Given the description of an element on the screen output the (x, y) to click on. 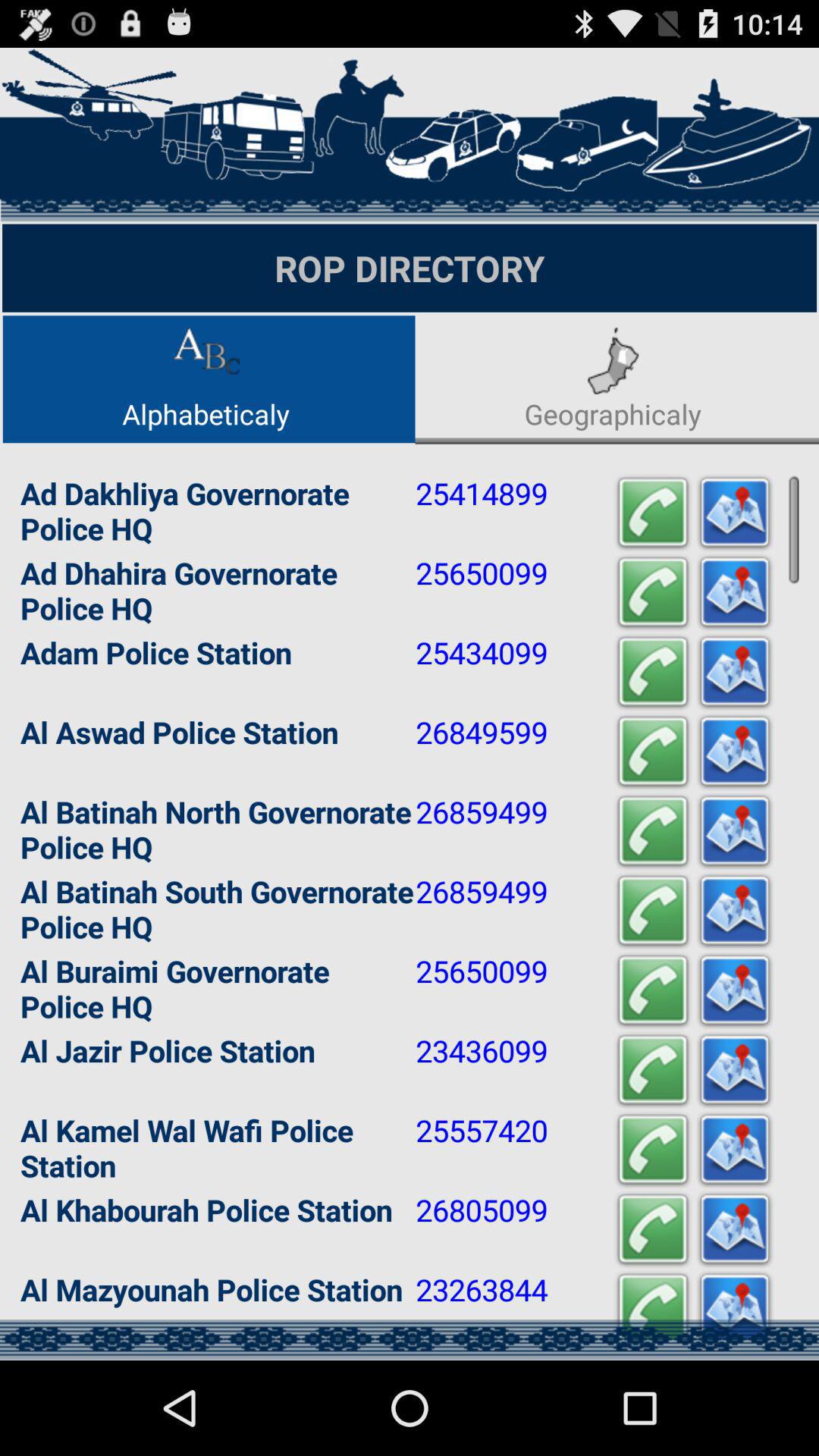
call the police (652, 1229)
